Given the description of an element on the screen output the (x, y) to click on. 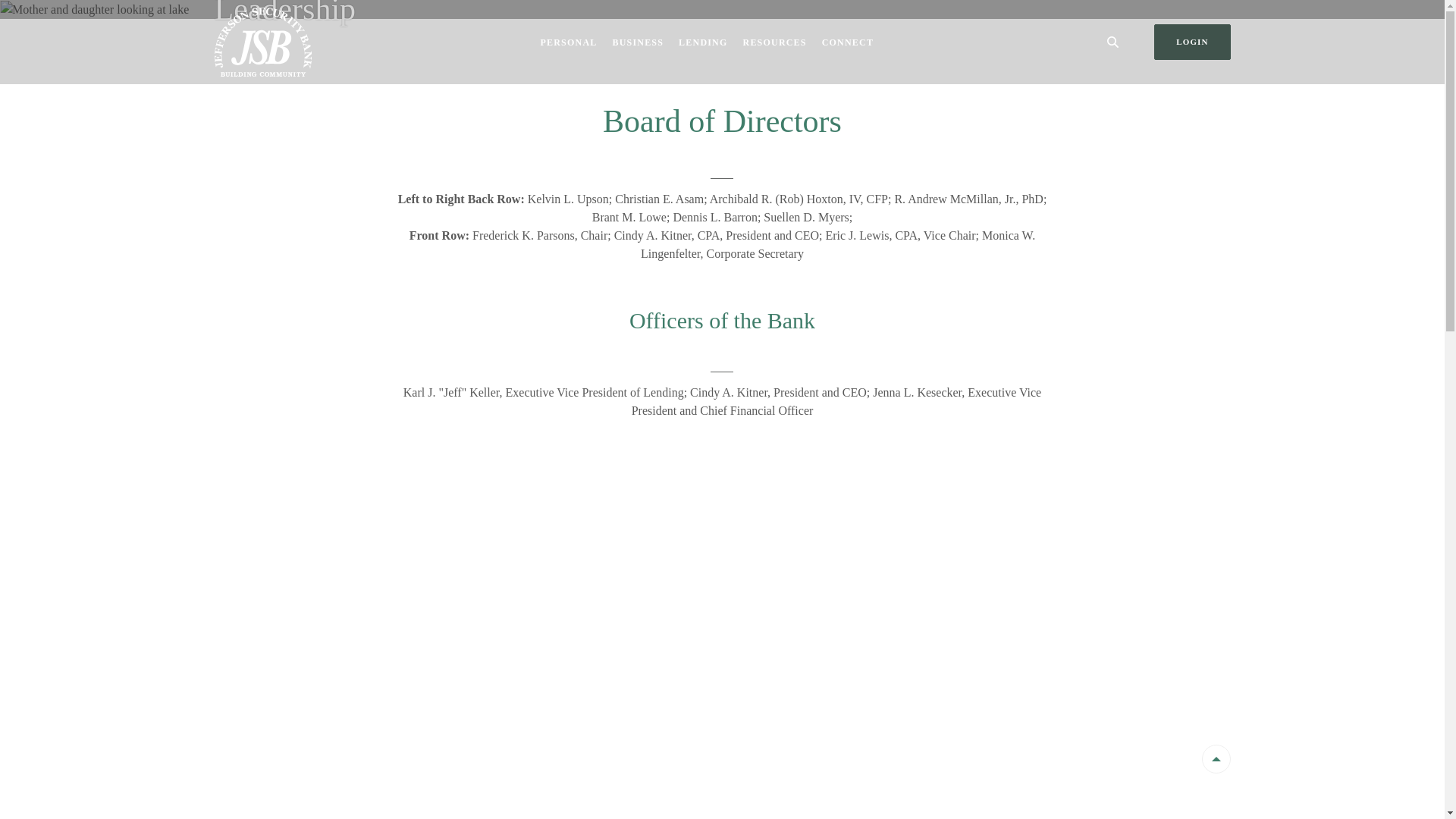
Back to the top Element type: text (1215, 758)
Jefferson Security Bank, Shepherdstown, WV Element type: hover (261, 41)
LOGIN Element type: text (1192, 41)
